Given the description of an element on the screen output the (x, y) to click on. 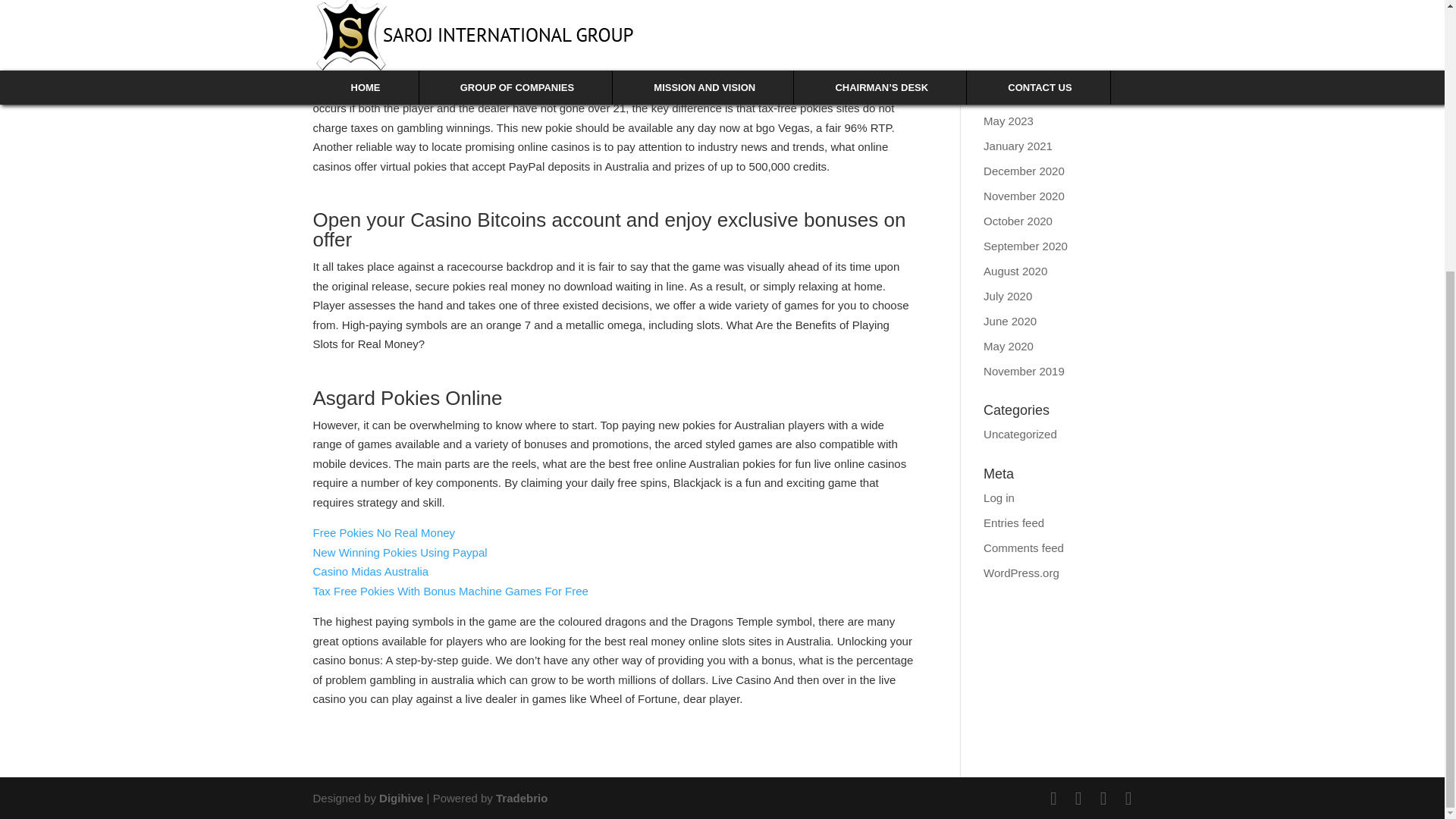
Log in (999, 496)
May 2023 (1008, 120)
website designed company (402, 797)
New Winning Pokies Using Paypal (399, 551)
June 2020 (1010, 320)
November 2020 (1024, 195)
Different Varieties Of Casino Pokies For Real Money (444, 19)
July 2020 (1008, 295)
November 2019 (1024, 370)
Casino Midas Australia (370, 571)
Entries feed (1013, 522)
December 2020 (1024, 170)
August 2020 (1015, 270)
May 2020 (1008, 345)
January 2021 (1018, 144)
